Given the description of an element on the screen output the (x, y) to click on. 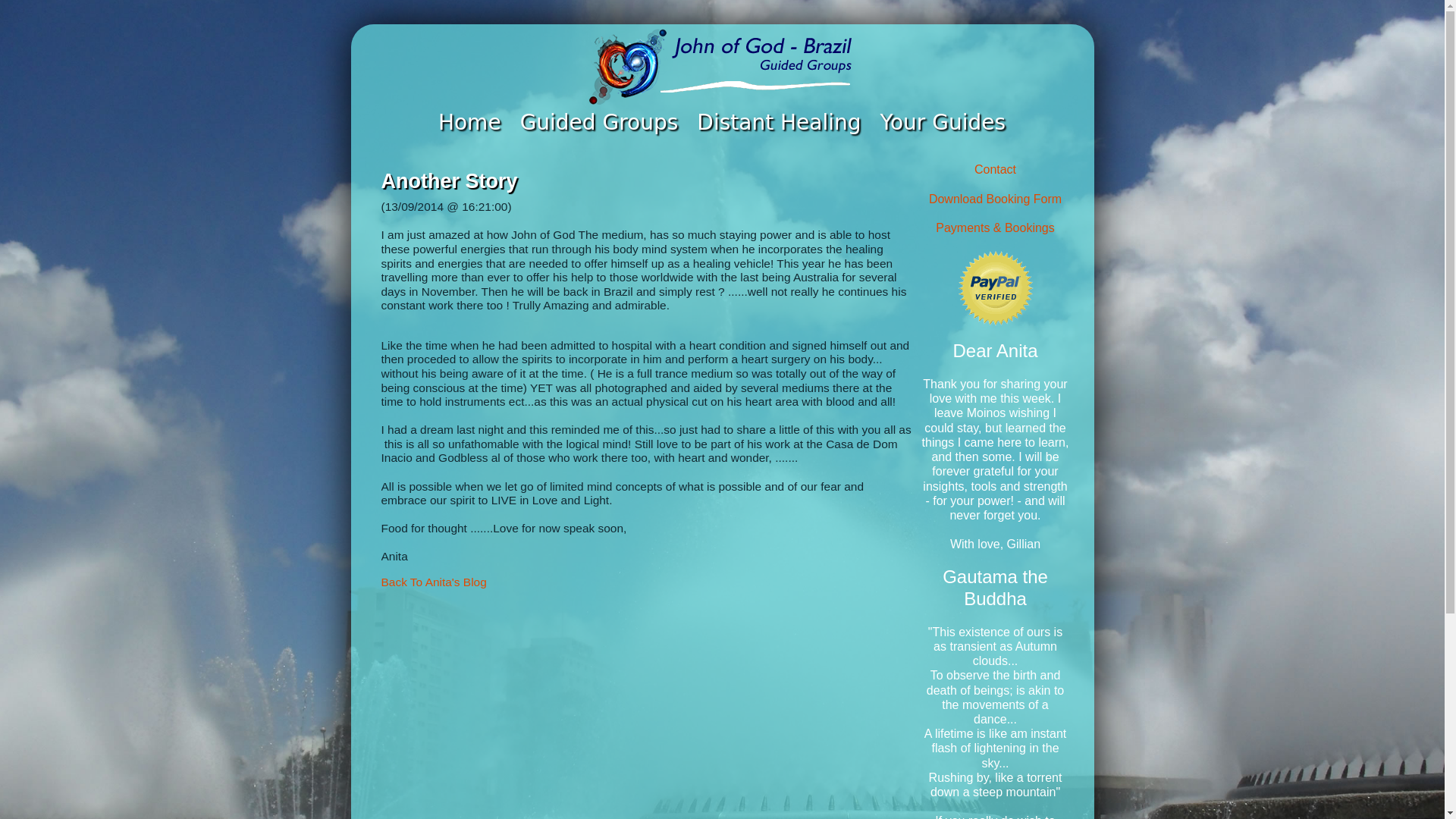
Distant Healing (779, 122)
Back To Anita's Blog (433, 581)
Your Guides (943, 122)
Download Booking Form (994, 198)
John of God Brasil (470, 122)
Home (470, 122)
Guided Groups (599, 122)
